Given the description of an element on the screen output the (x, y) to click on. 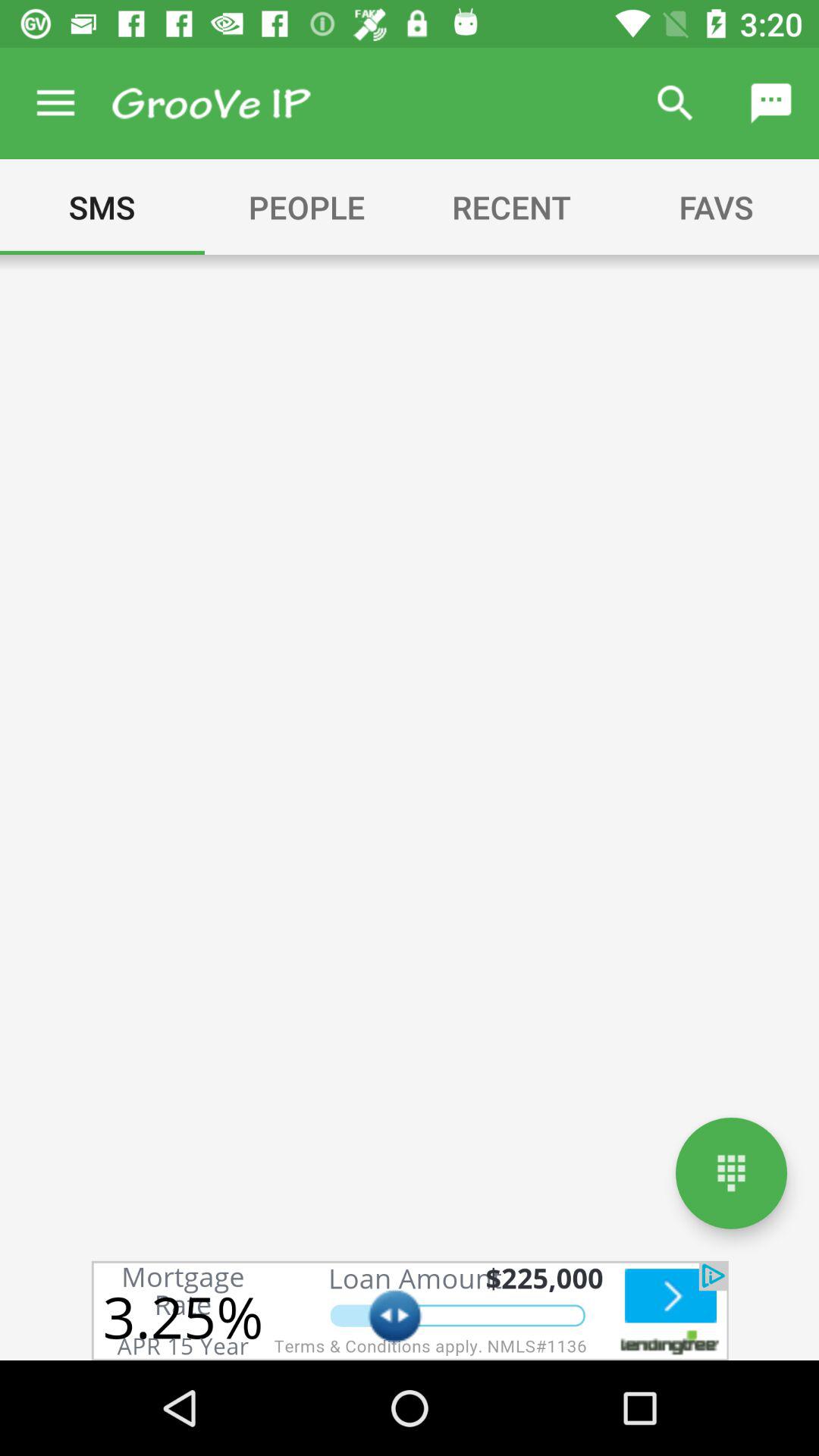
3.25 (409, 1310)
